Given the description of an element on the screen output the (x, y) to click on. 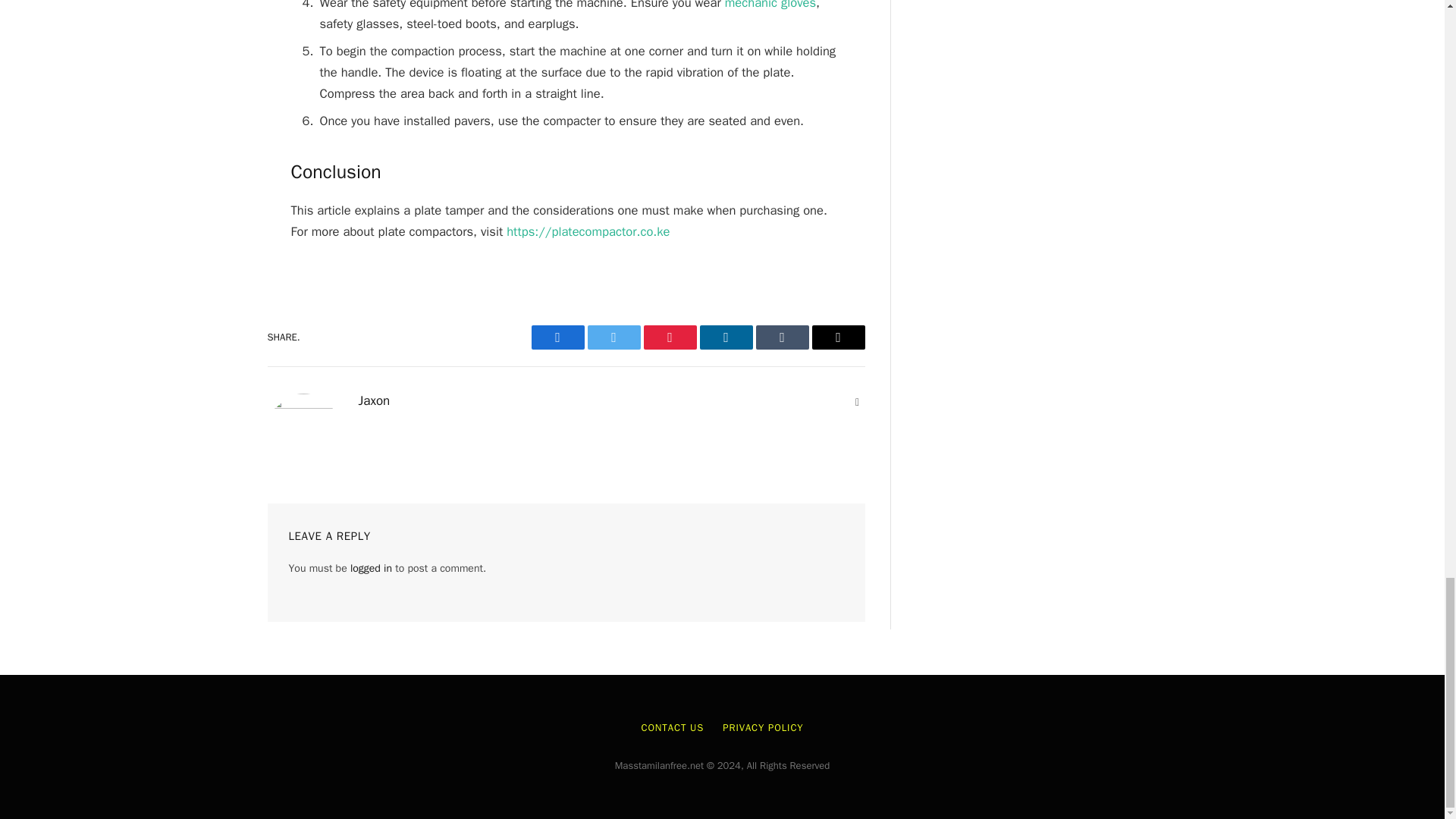
mechanic gloves (770, 5)
